Given the description of an element on the screen output the (x, y) to click on. 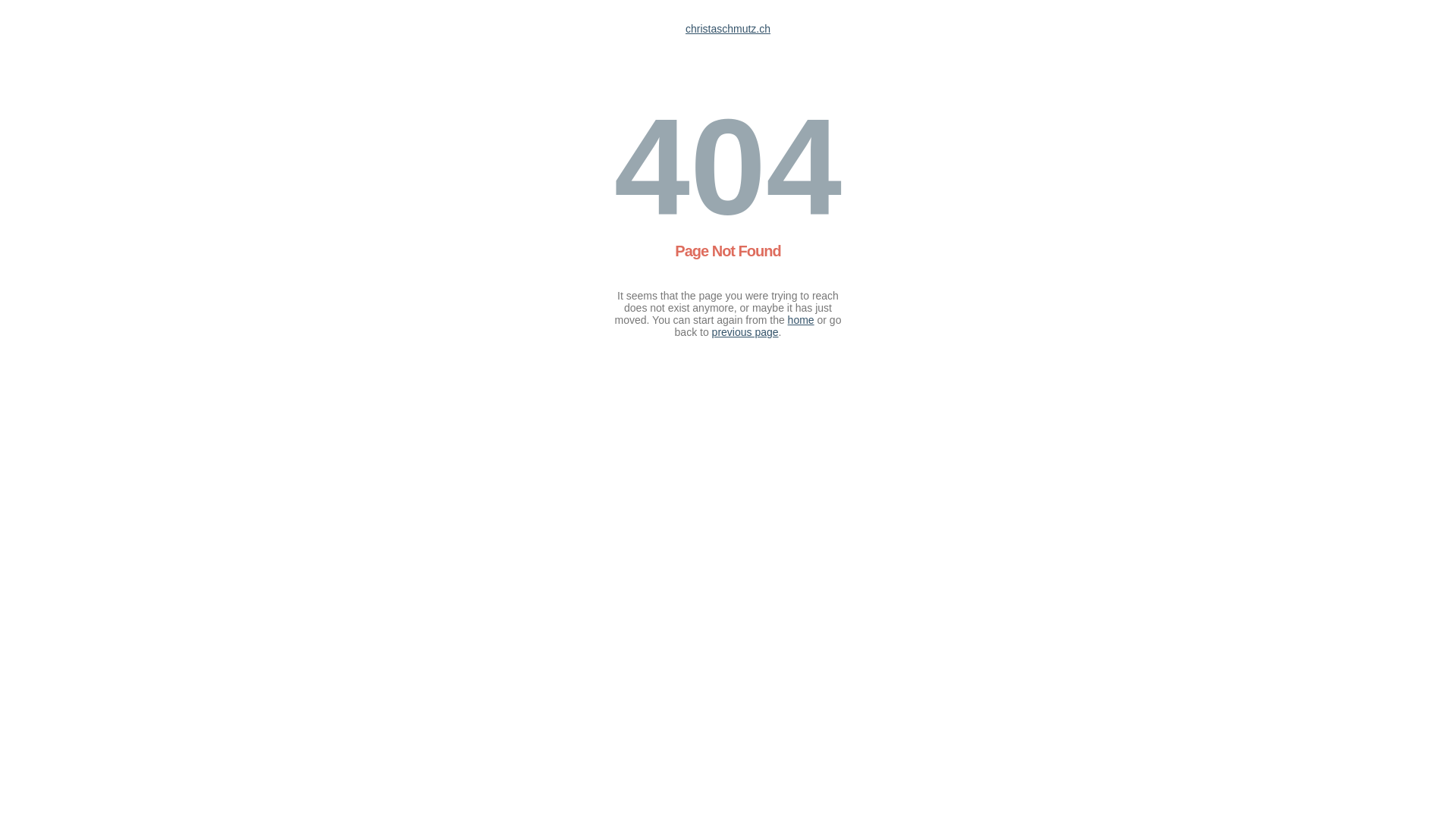
previous page Element type: text (745, 332)
home Element type: text (800, 319)
christaschmutz.ch Element type: text (727, 28)
